Given the description of an element on the screen output the (x, y) to click on. 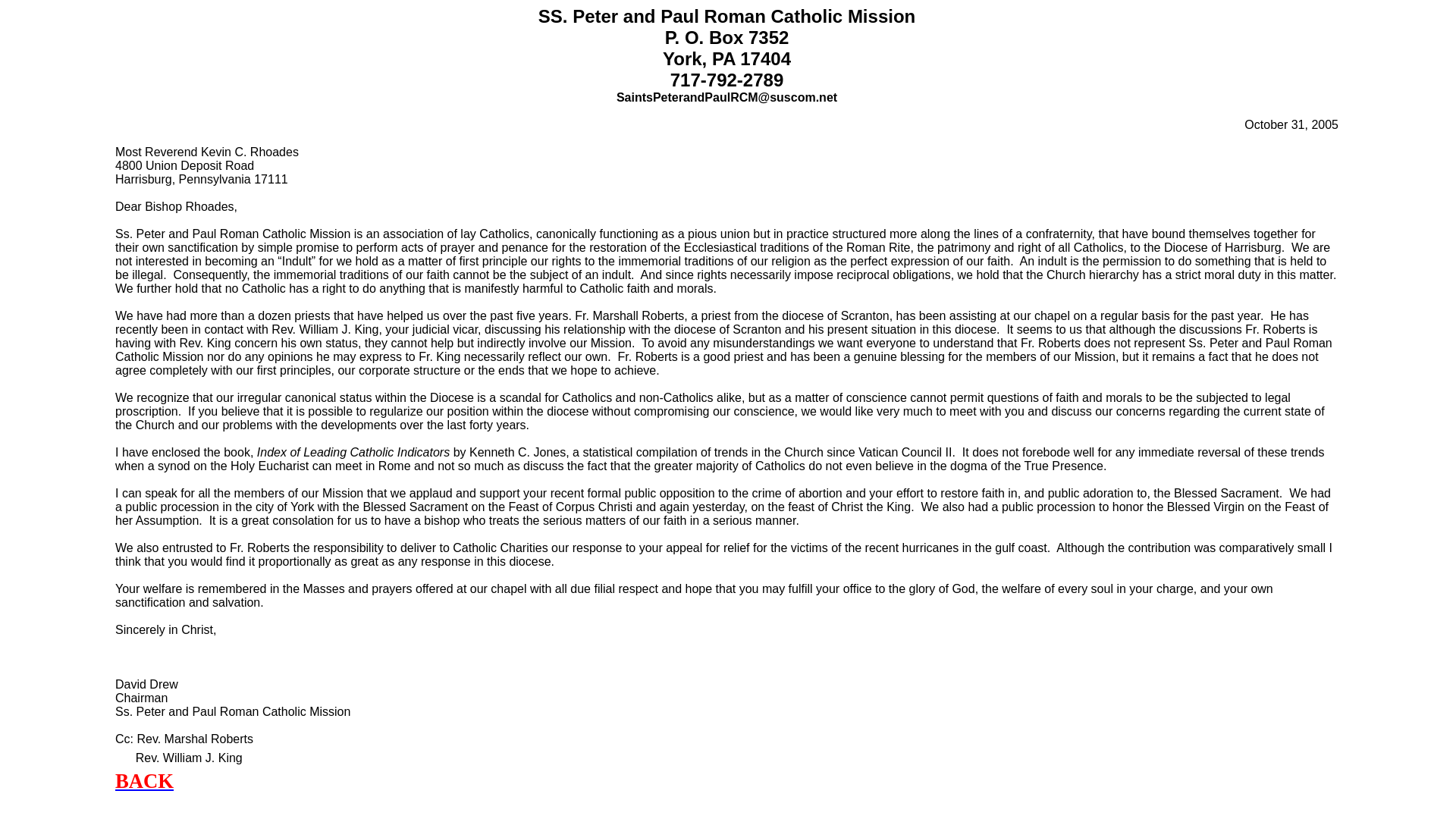
BACK (144, 780)
